Given the description of an element on the screen output the (x, y) to click on. 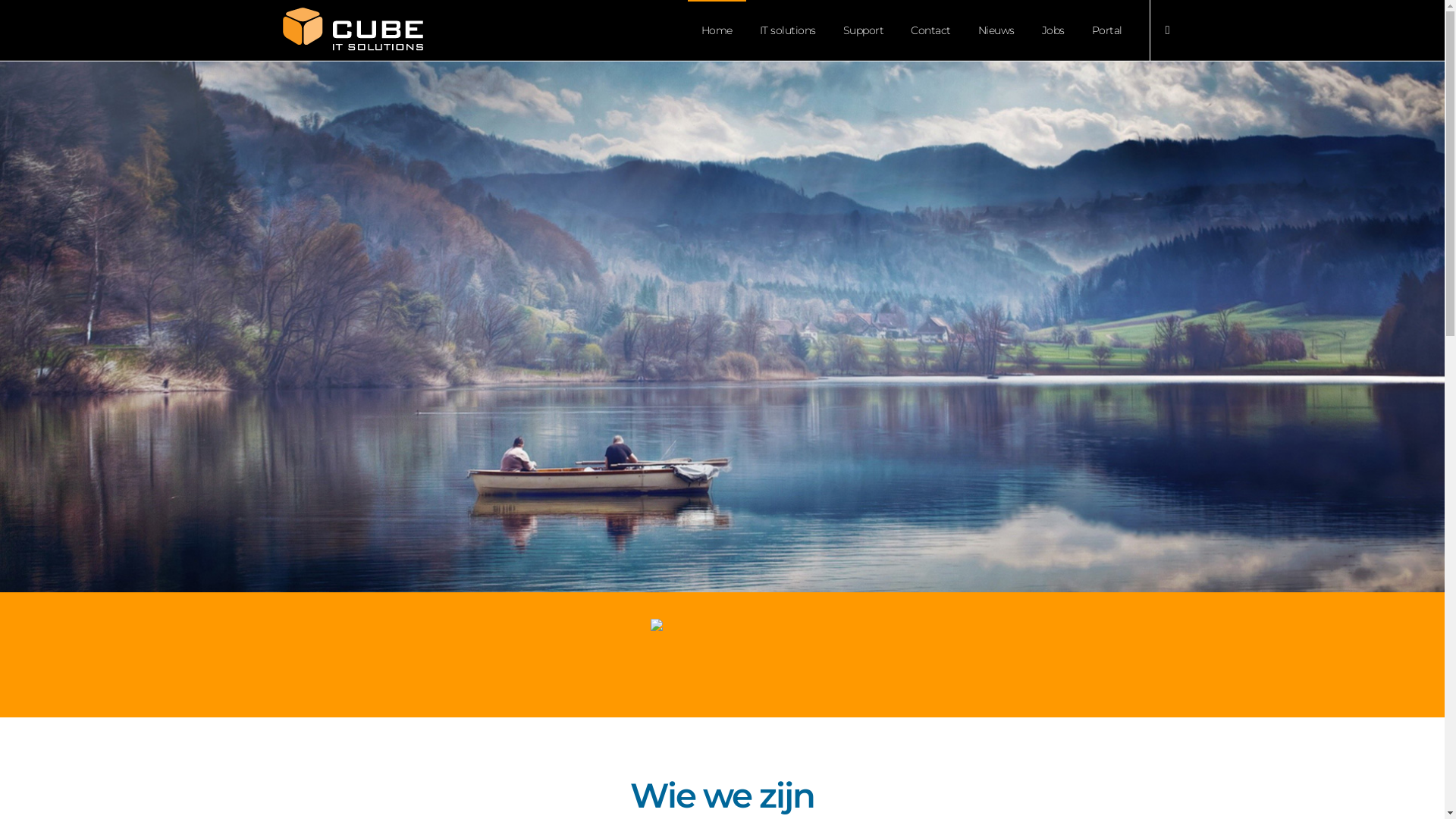
Portal Element type: text (1107, 30)
Support Element type: text (863, 30)
IT solutions Element type: text (787, 30)
Jobs Element type: text (1052, 30)
Search Element type: text (1071, 412)
Contact Element type: text (930, 30)
Site logo Element type: hover (353, 30)
Home Element type: text (716, 30)
Nieuws Element type: text (996, 30)
